Given the description of an element on the screen output the (x, y) to click on. 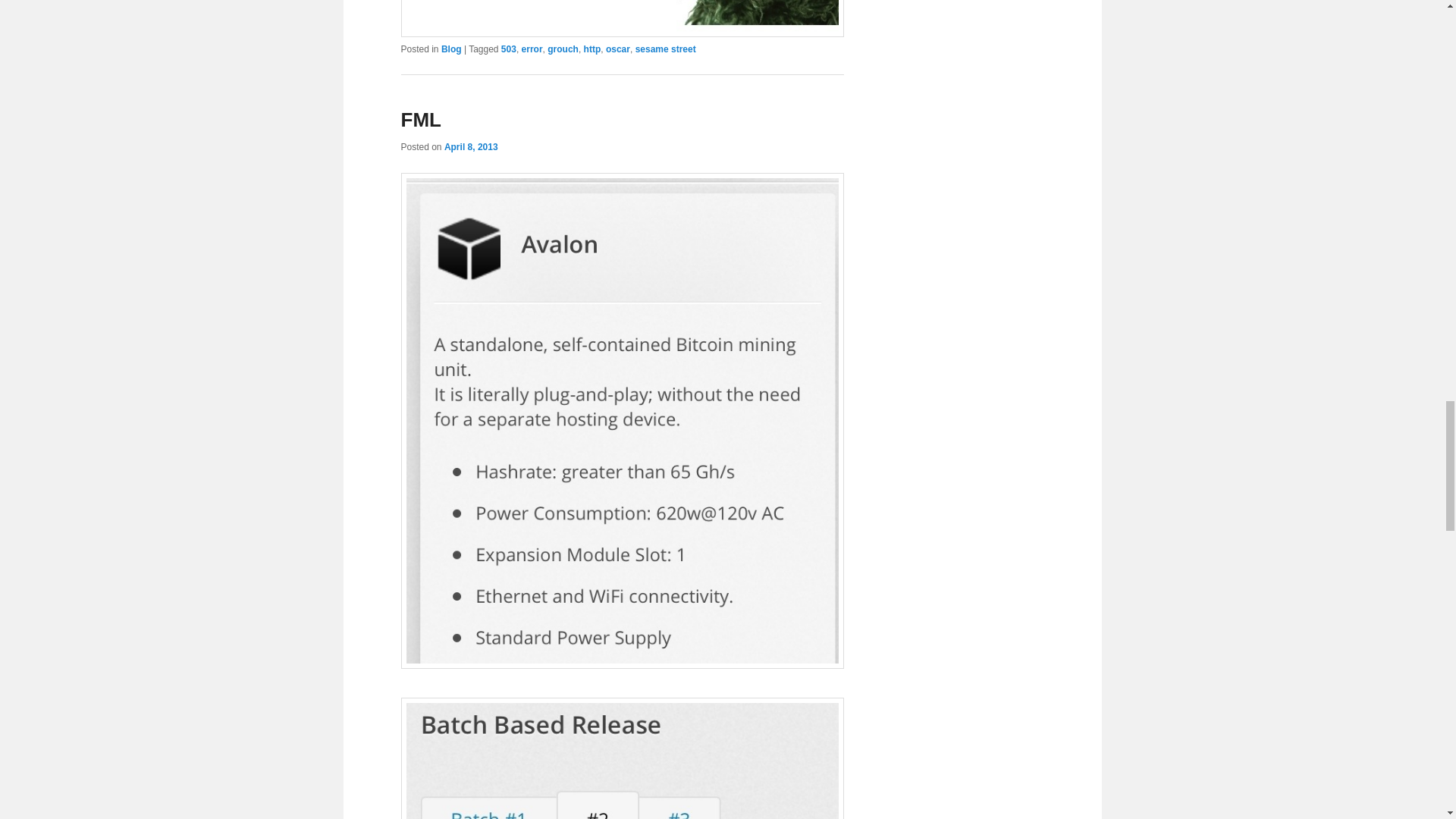
503 (508, 49)
error (532, 49)
Blog (451, 49)
grouch (562, 49)
oscar (617, 49)
http (592, 49)
7:46 pm (470, 146)
